Given the description of an element on the screen output the (x, y) to click on. 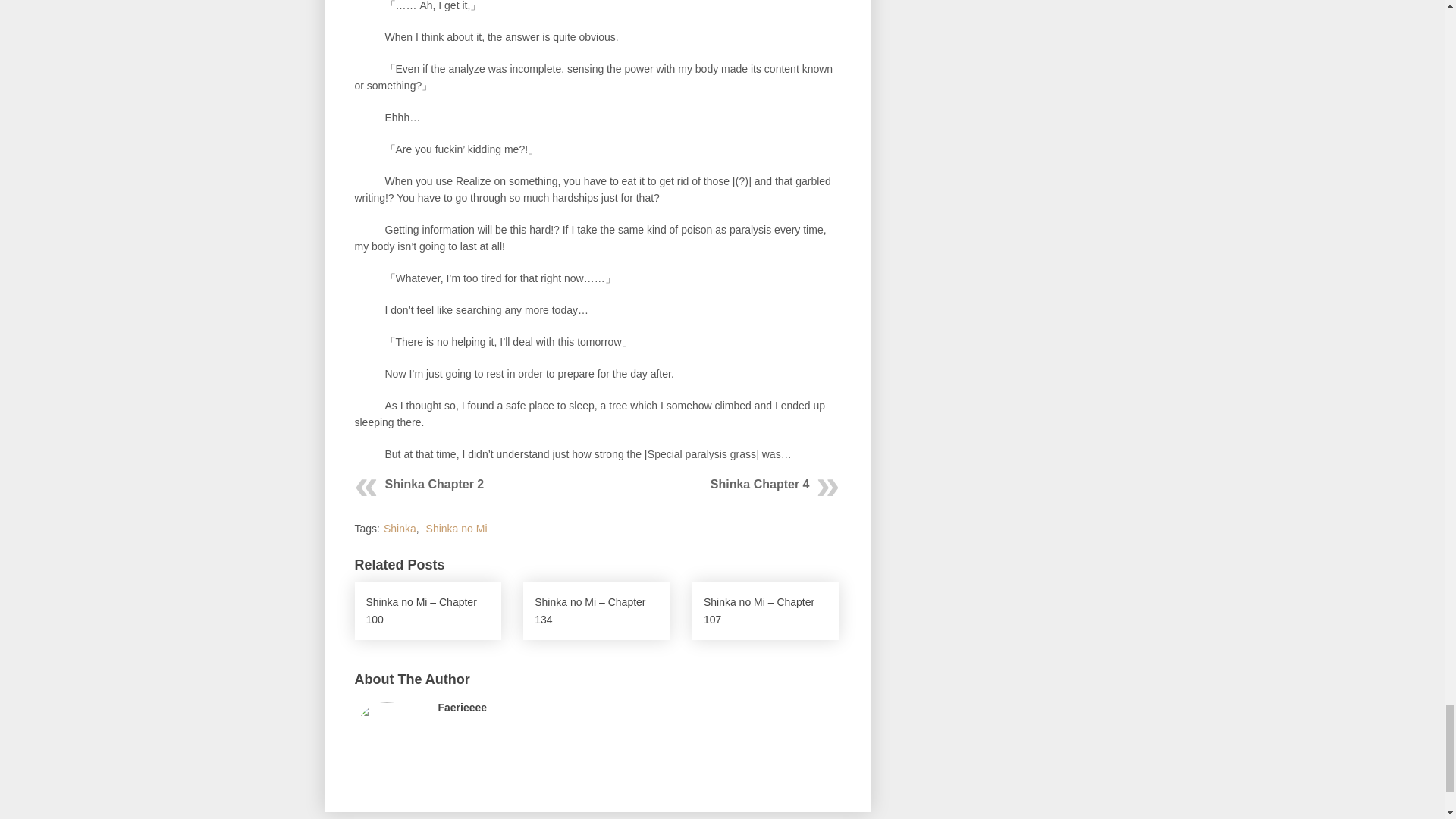
Shinka Chapter 4 (759, 483)
Shinka Chapter 2 (434, 483)
Shinka (400, 528)
Shinka no Mi (456, 528)
